Given the description of an element on the screen output the (x, y) to click on. 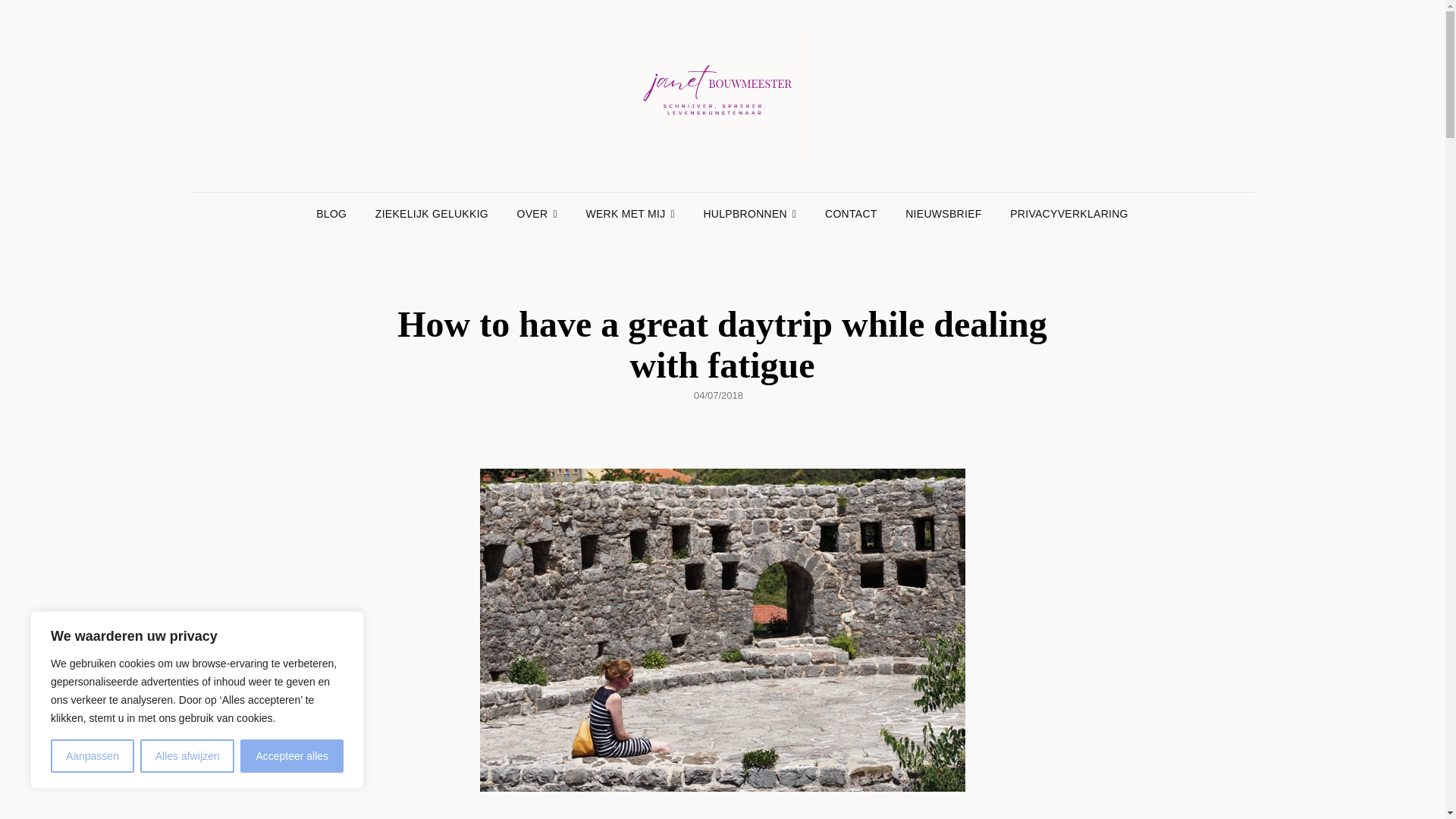
BLOG (331, 213)
WERK MET MIJ (630, 213)
Accepteer alles (291, 756)
HULPBRONNEN (749, 213)
ZIEKELIJK GELUKKIG (431, 213)
JANET BOUWMEESTER (1073, 117)
CONTACT (850, 213)
OVER (537, 213)
Alles afwijzen (186, 756)
Aanpassen (91, 756)
